Given the description of an element on the screen output the (x, y) to click on. 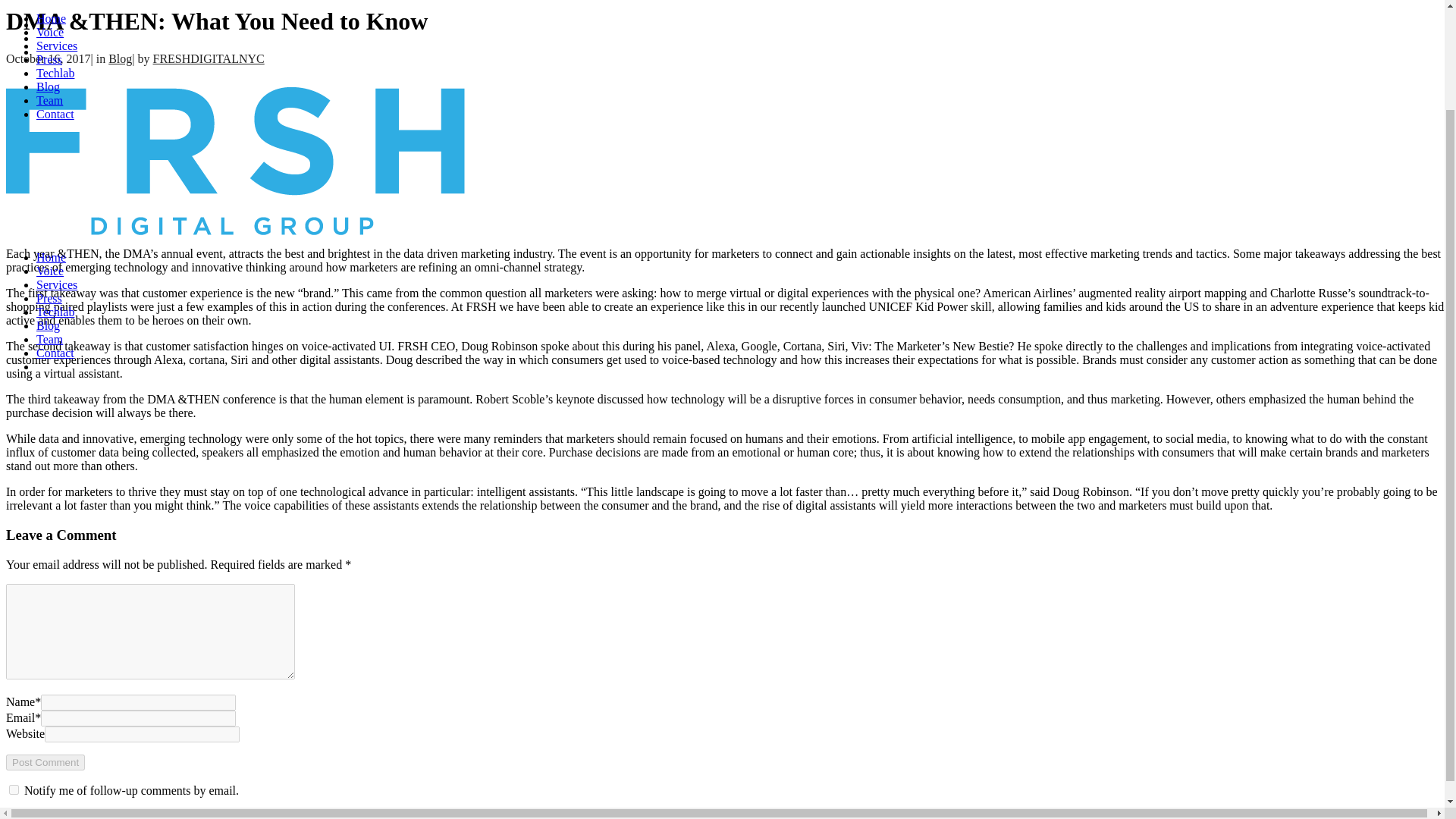
Voice (50, 151)
Services (56, 164)
subscribe (13, 789)
Contact (55, 0)
Press (49, 178)
Blog (119, 58)
Post Comment (44, 762)
Home (50, 137)
Team (49, 219)
FRESHDIGITALNYC (208, 58)
